Given the description of an element on the screen output the (x, y) to click on. 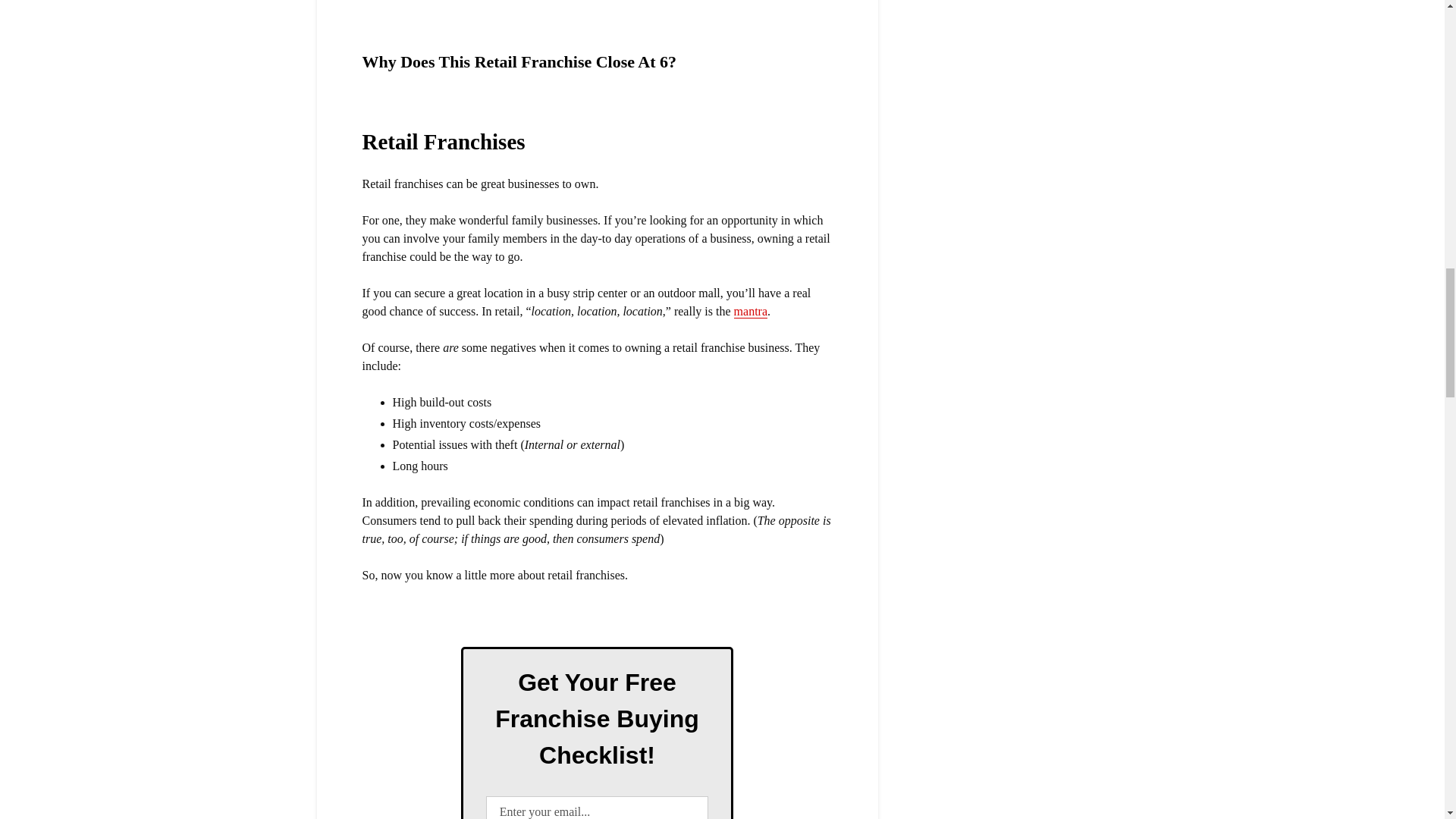
mantras in franchising (750, 311)
